Given the description of an element on the screen output the (x, y) to click on. 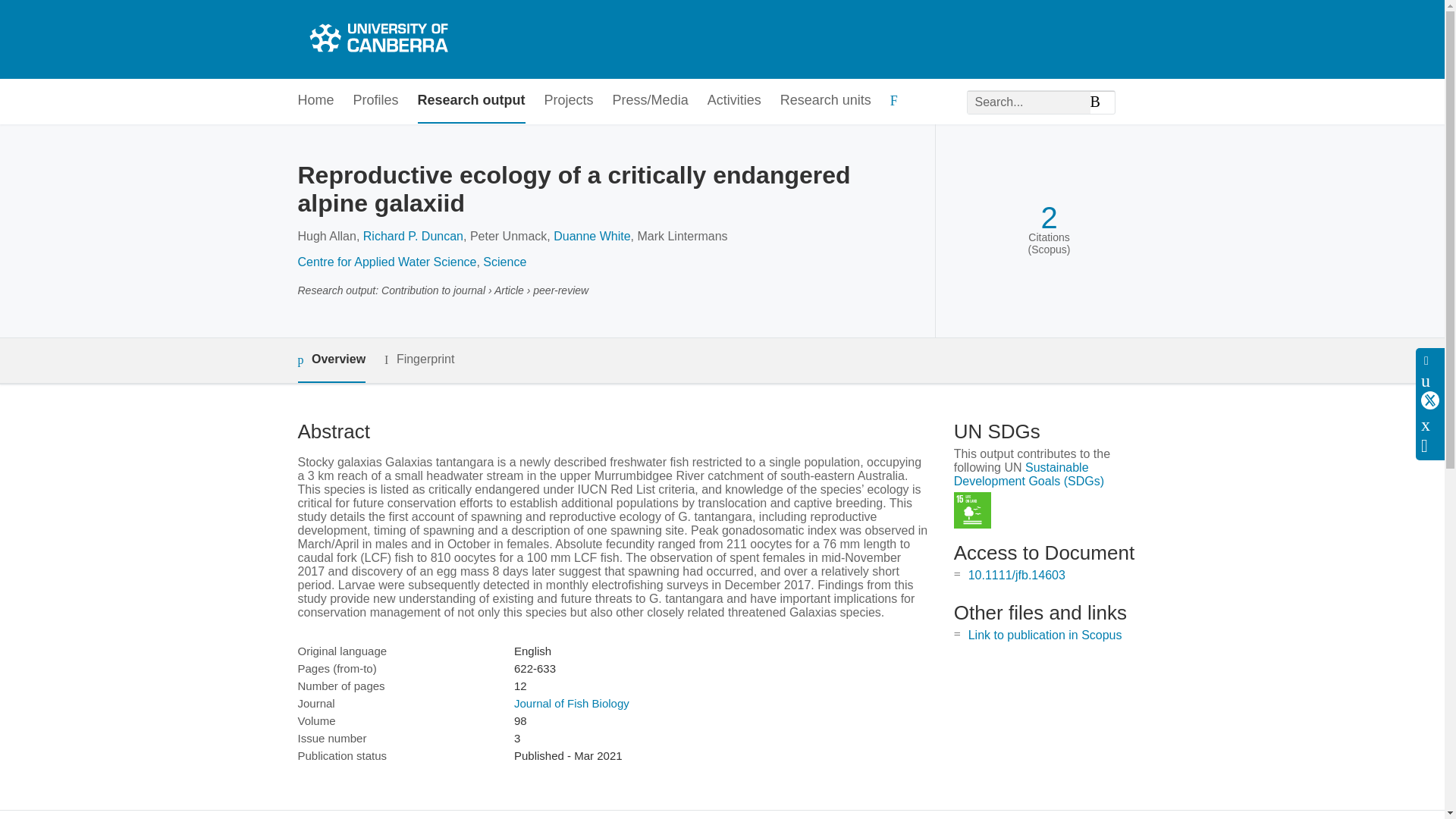
Fingerprint (419, 359)
Overview (331, 360)
Research output (471, 100)
Journal of Fish Biology (570, 703)
University of Canberra Research Portal Home (377, 39)
Projects (569, 100)
Profiles (375, 100)
Link to publication in Scopus (1045, 634)
Research units (825, 100)
